Given the description of an element on the screen output the (x, y) to click on. 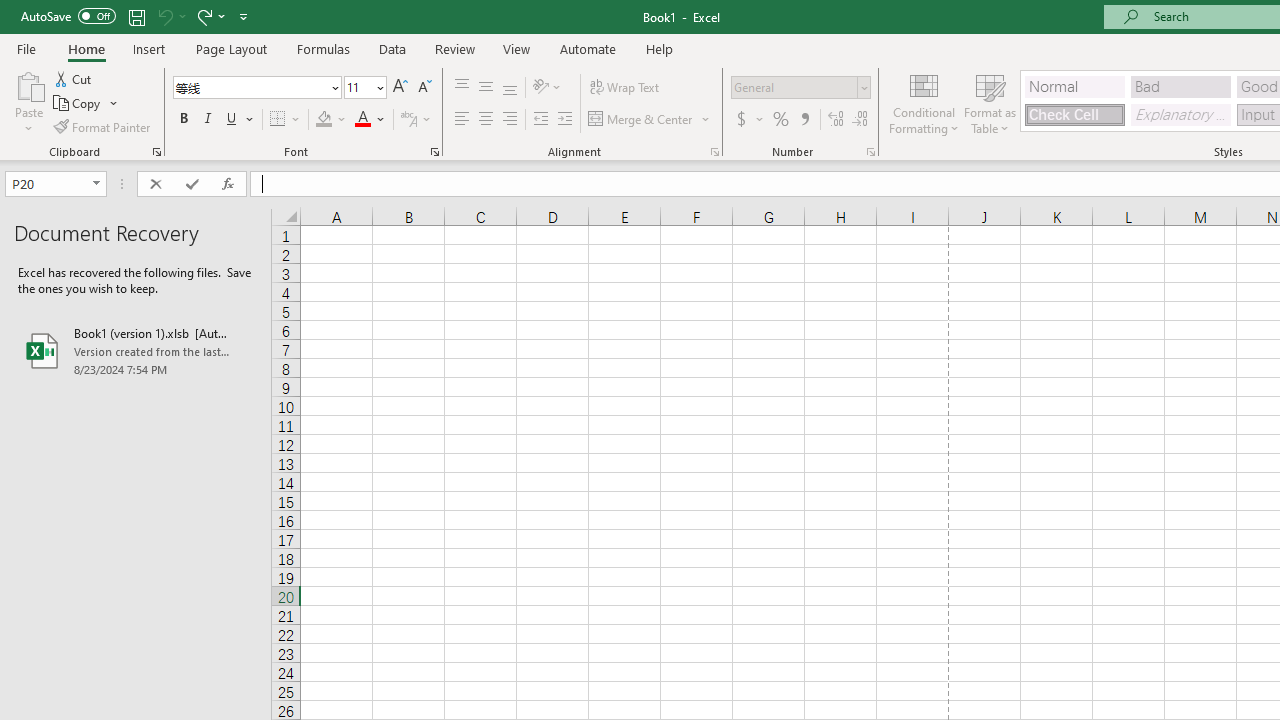
Underline (232, 119)
Paste (28, 102)
Merge & Center (649, 119)
Explanatory Text (1180, 114)
Copy (78, 103)
Format Cell Font (434, 151)
Font Size (365, 87)
Top Align (461, 87)
Fill Color RGB(255, 255, 0) (324, 119)
